Given the description of an element on the screen output the (x, y) to click on. 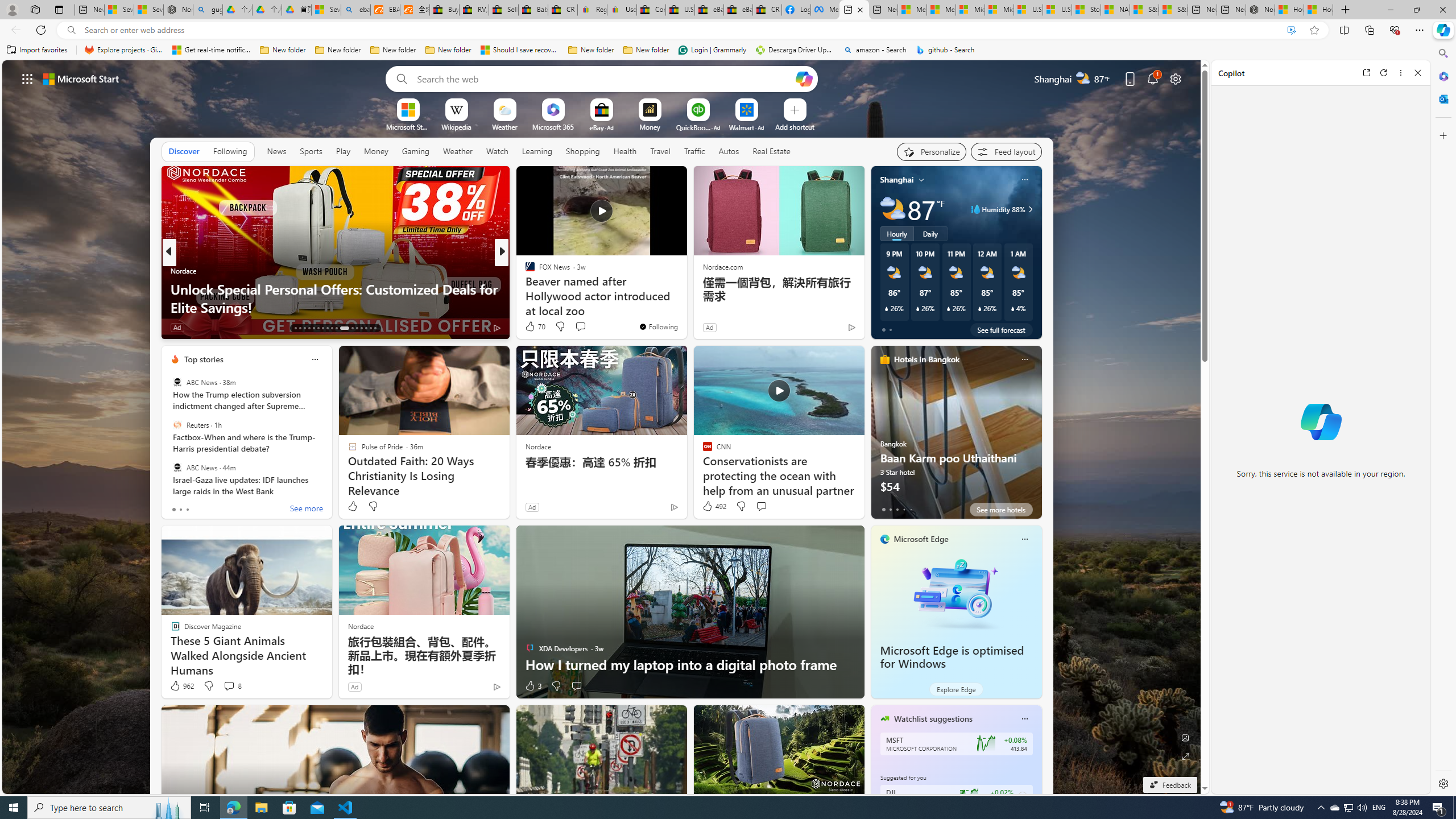
Hide this story (652, 179)
Meta Store (825, 9)
Restore (1416, 9)
Add a site (793, 126)
Open Copilot (803, 78)
How to Use a Monitor With Your Closed Laptop (1318, 9)
Class: follow-button  m (1021, 795)
tab-4 (910, 509)
News (277, 151)
